Given the description of an element on the screen output the (x, y) to click on. 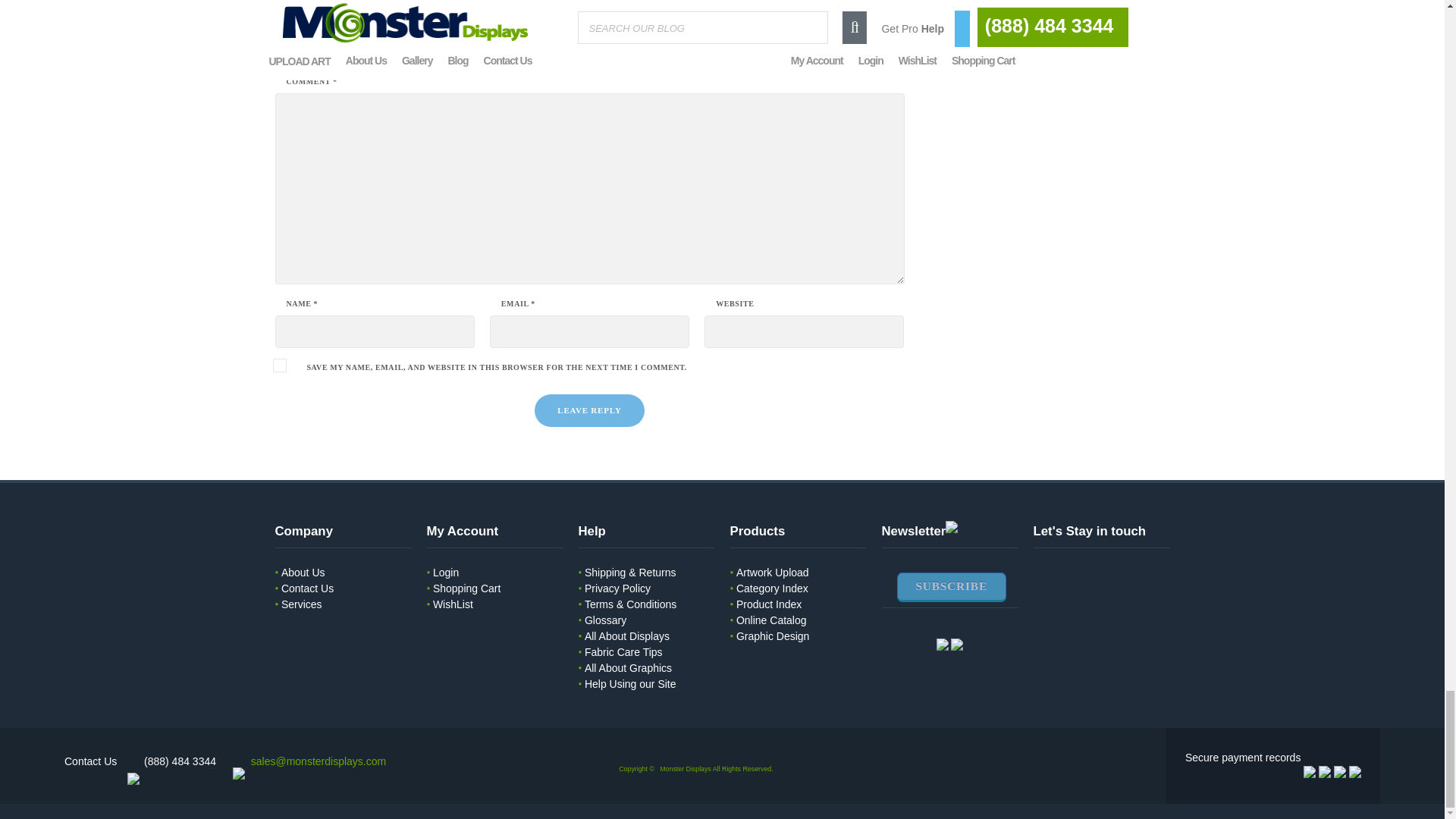
yes (279, 365)
Leave reply (588, 409)
Subscribe (951, 586)
